Given the description of an element on the screen output the (x, y) to click on. 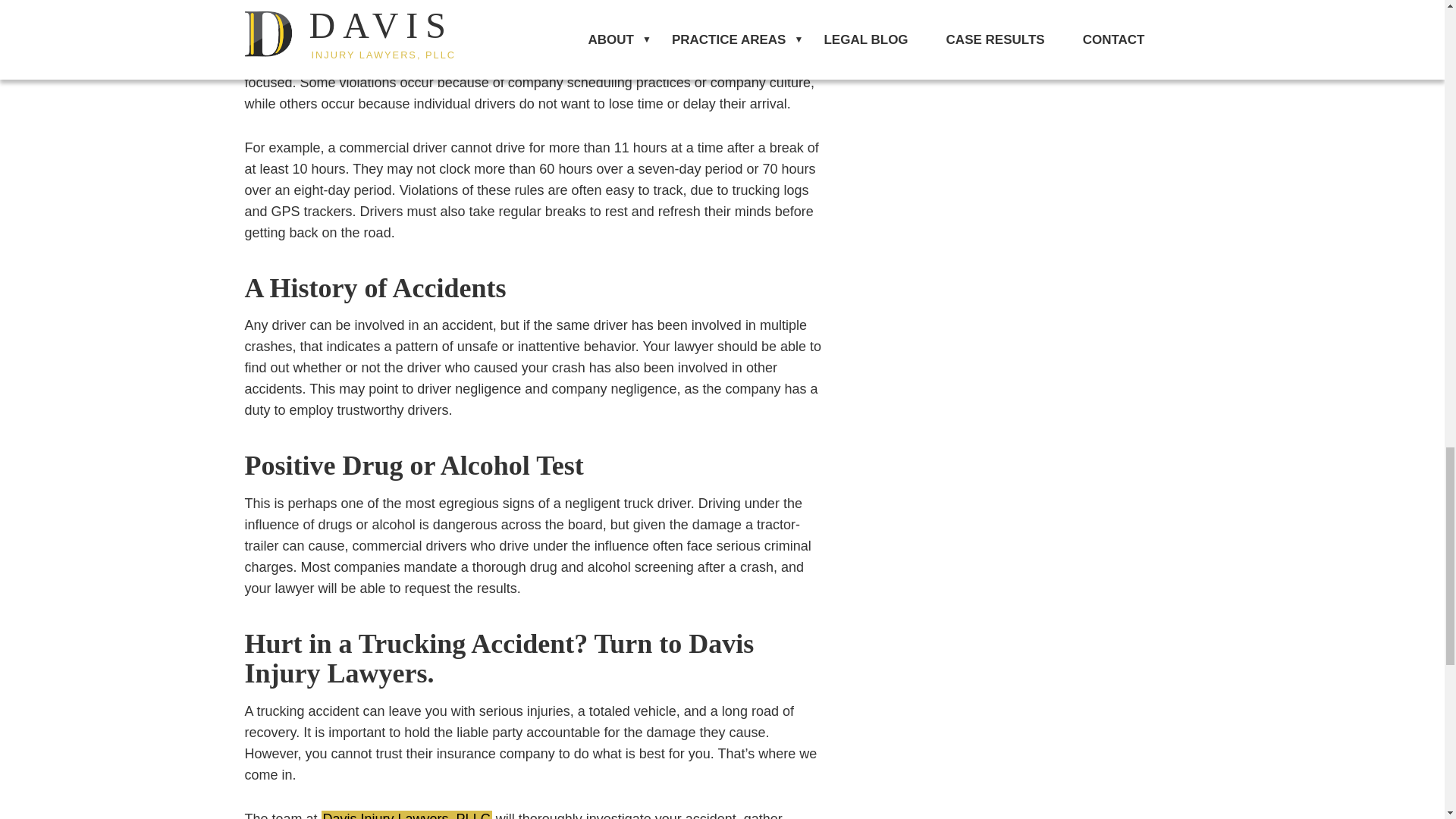
About Us (406, 814)
